Given the description of an element on the screen output the (x, y) to click on. 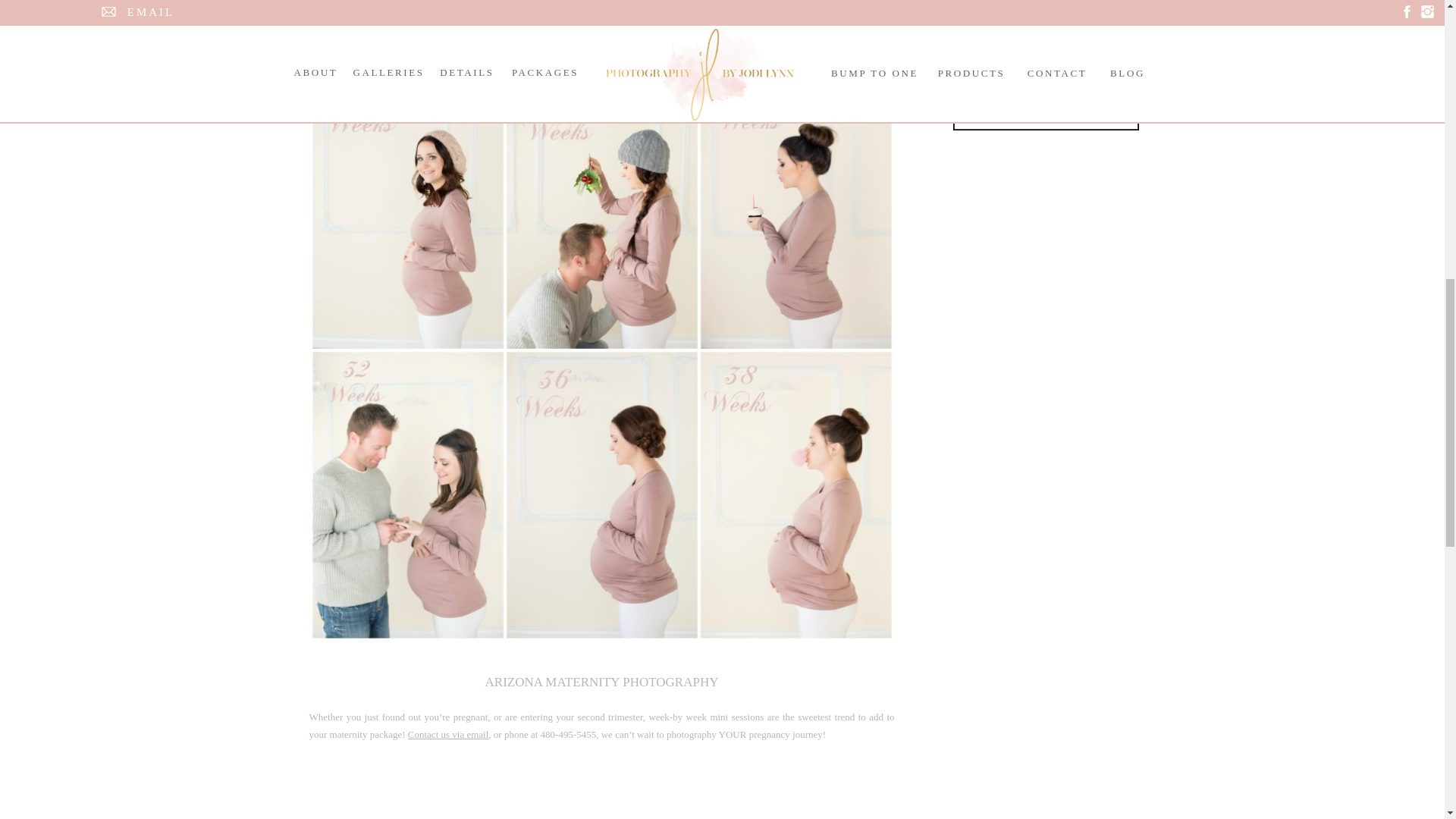
Contact us via email (448, 734)
